Given the description of an element on the screen output the (x, y) to click on. 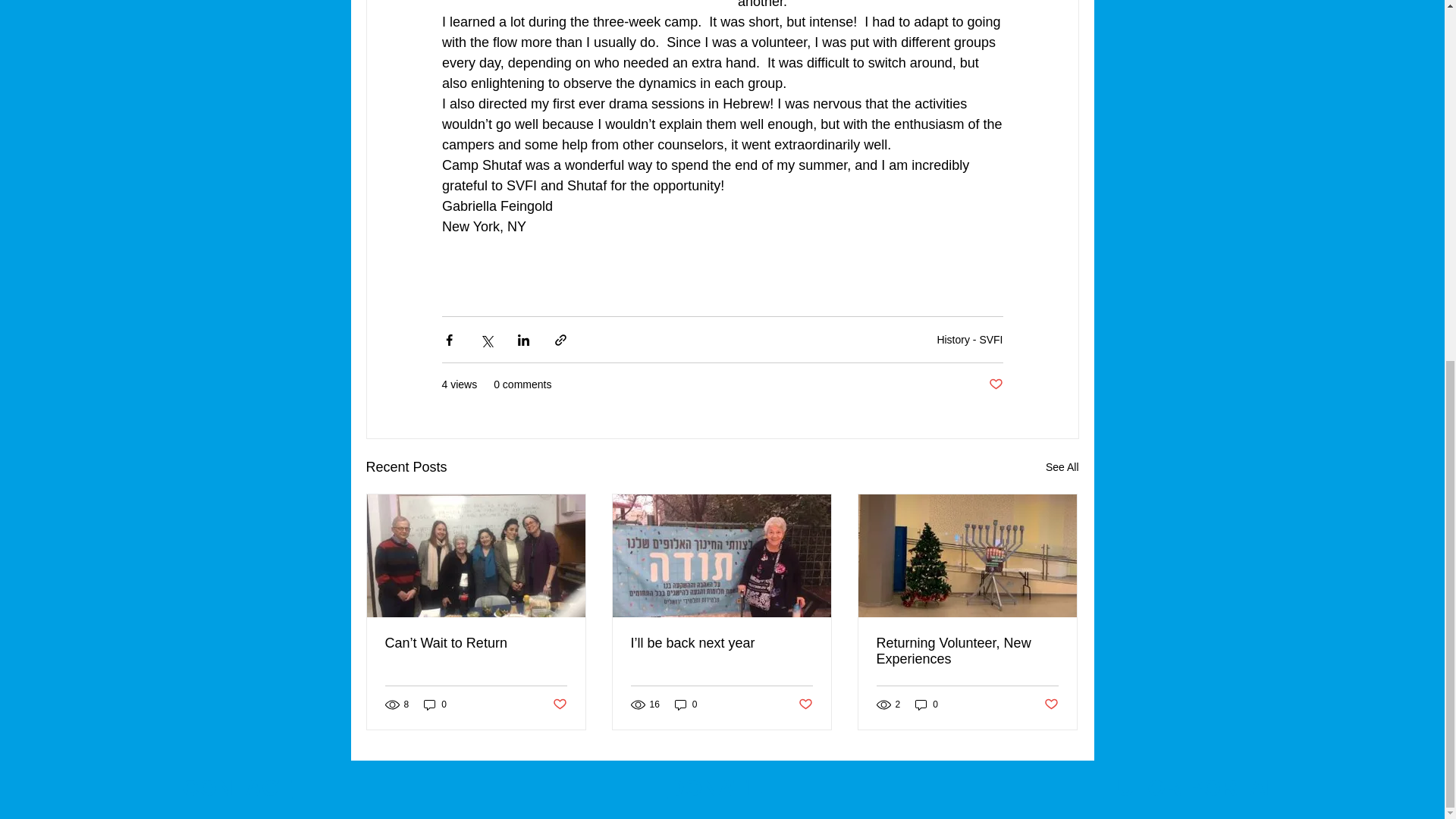
0 (435, 704)
CONTACT (237, 787)
Post not marked as liked (804, 703)
0 (685, 704)
0 (926, 704)
History - SVFI (969, 339)
DONATE (714, 787)
Post not marked as liked (558, 703)
Returning Volunteer, New Experiences (967, 651)
Post not marked as liked (1050, 703)
See All (1061, 467)
TUTOR PORTAL (1191, 787)
Post not marked as liked (995, 384)
